Given the description of an element on the screen output the (x, y) to click on. 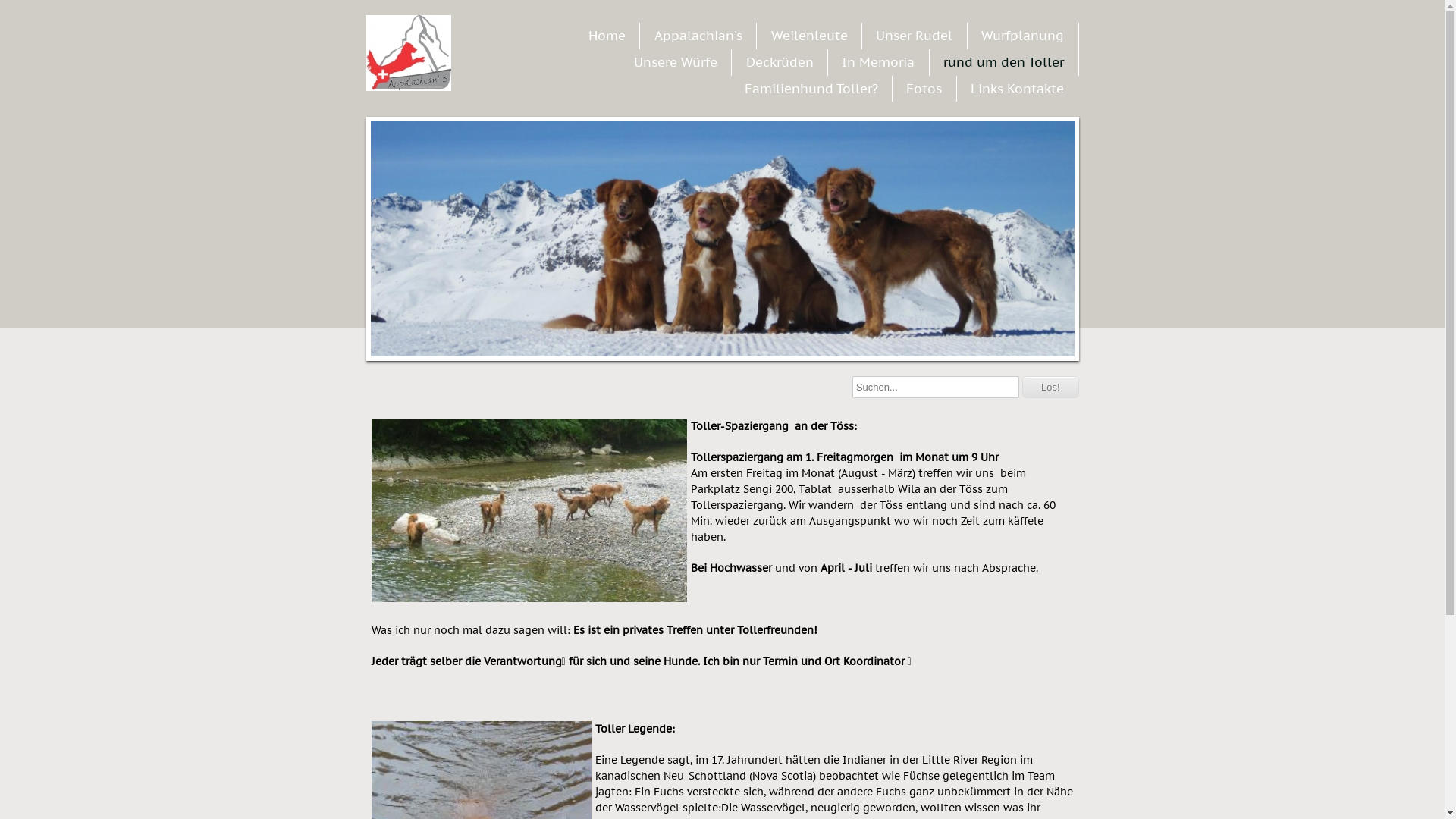
Wurfplanung Element type: text (1022, 35)
In Memoria Element type: text (878, 62)
Unser Rudel Element type: text (914, 35)
Fotos Element type: text (923, 88)
Links Kontakte Element type: text (1017, 88)
Appalachian's Element type: text (697, 35)
Familienhund Toller? Element type: text (811, 88)
rund um den Toller Element type: text (1003, 62)
Home Element type: text (606, 35)
Weilenleute Element type: text (809, 35)
Los! Element type: text (1050, 387)
